Given the description of an element on the screen output the (x, y) to click on. 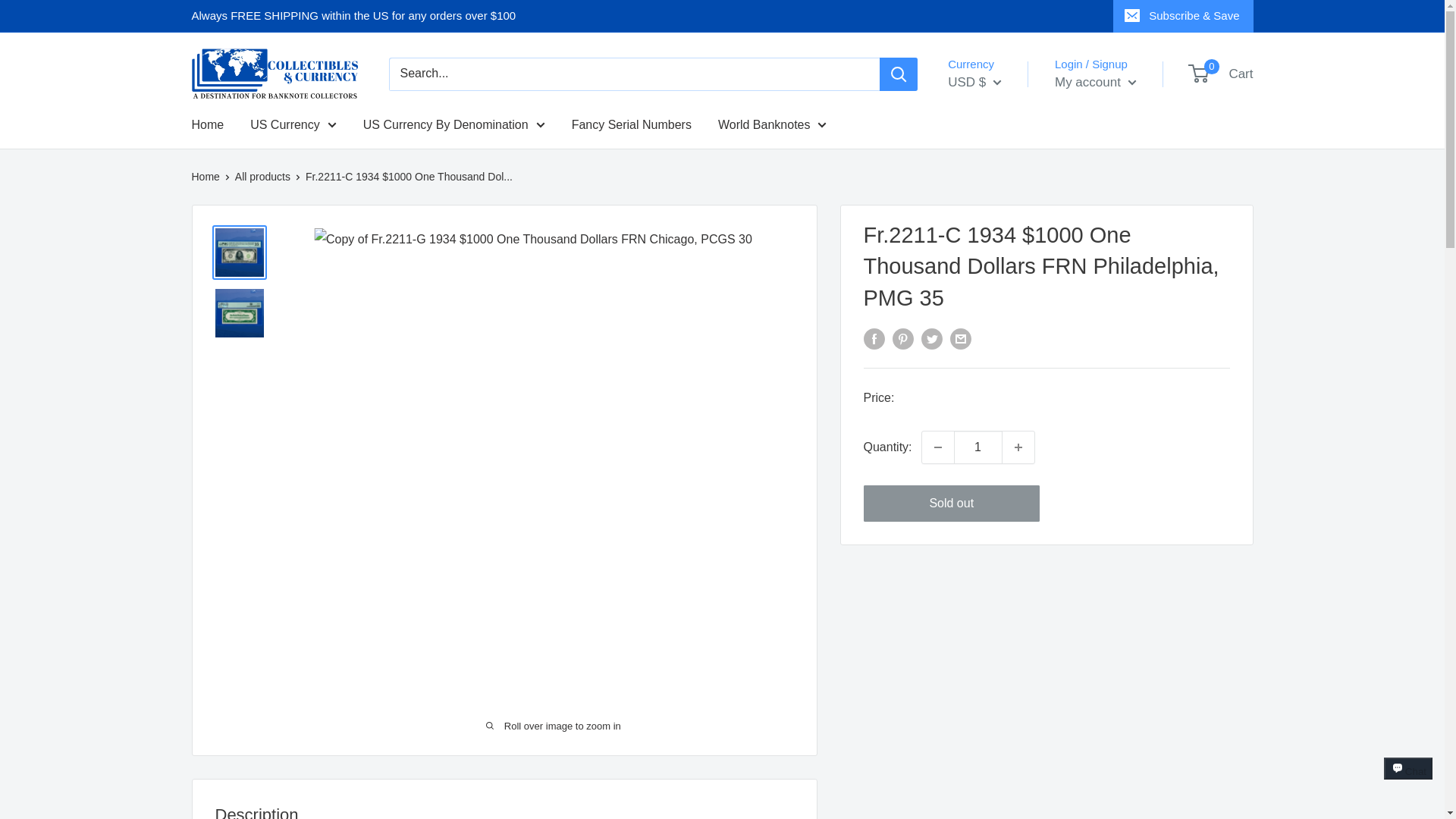
Decrease quantity by 1 (937, 447)
1 (978, 447)
Shopify online store chat (1408, 781)
Increase quantity by 1 (1018, 447)
